Given the description of an element on the screen output the (x, y) to click on. 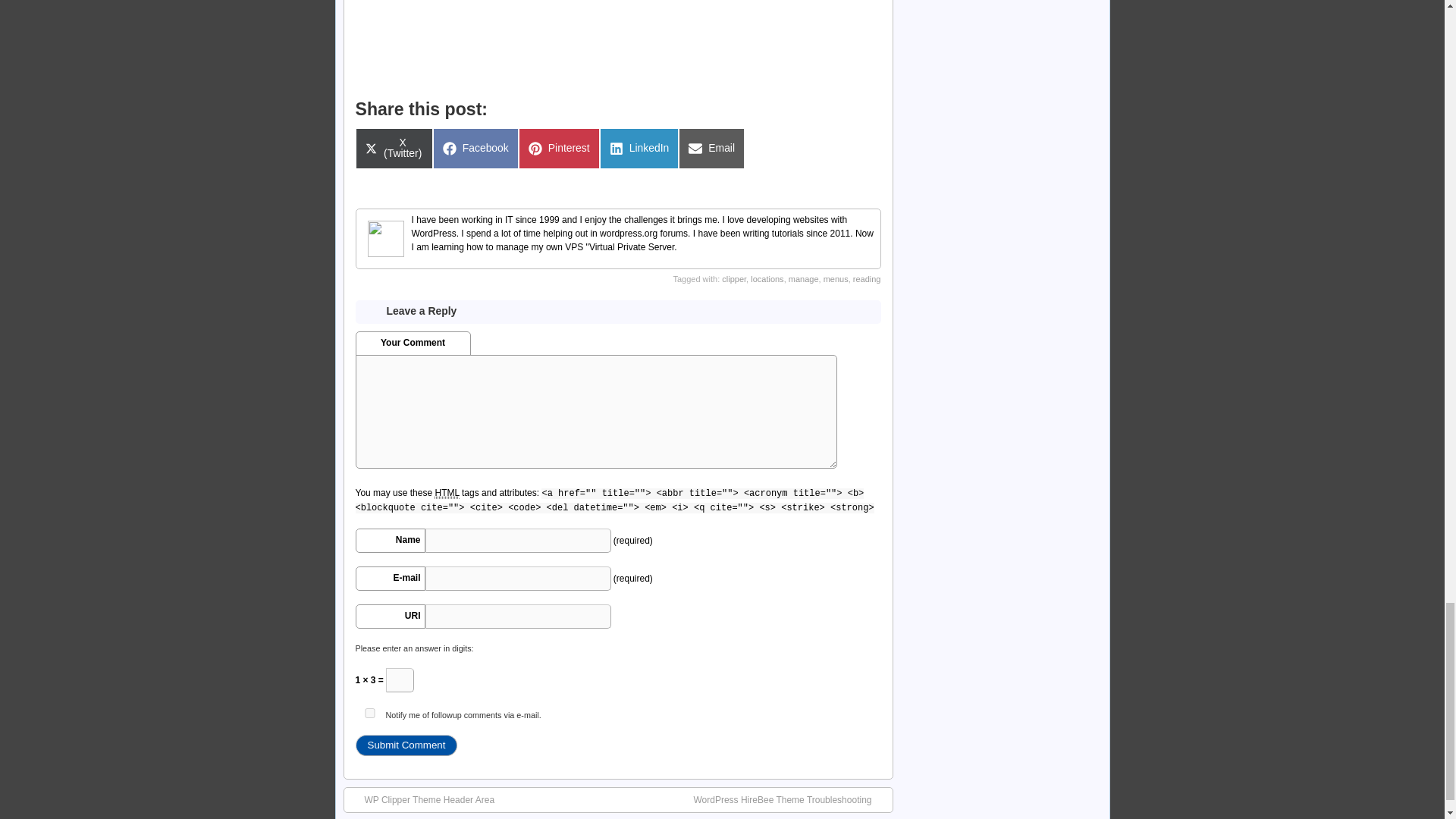
yes (369, 713)
Submit Comment (406, 744)
reading (866, 278)
clipper (711, 147)
locations (733, 278)
manage (558, 147)
HyperText Markup Language (767, 278)
